Given the description of an element on the screen output the (x, y) to click on. 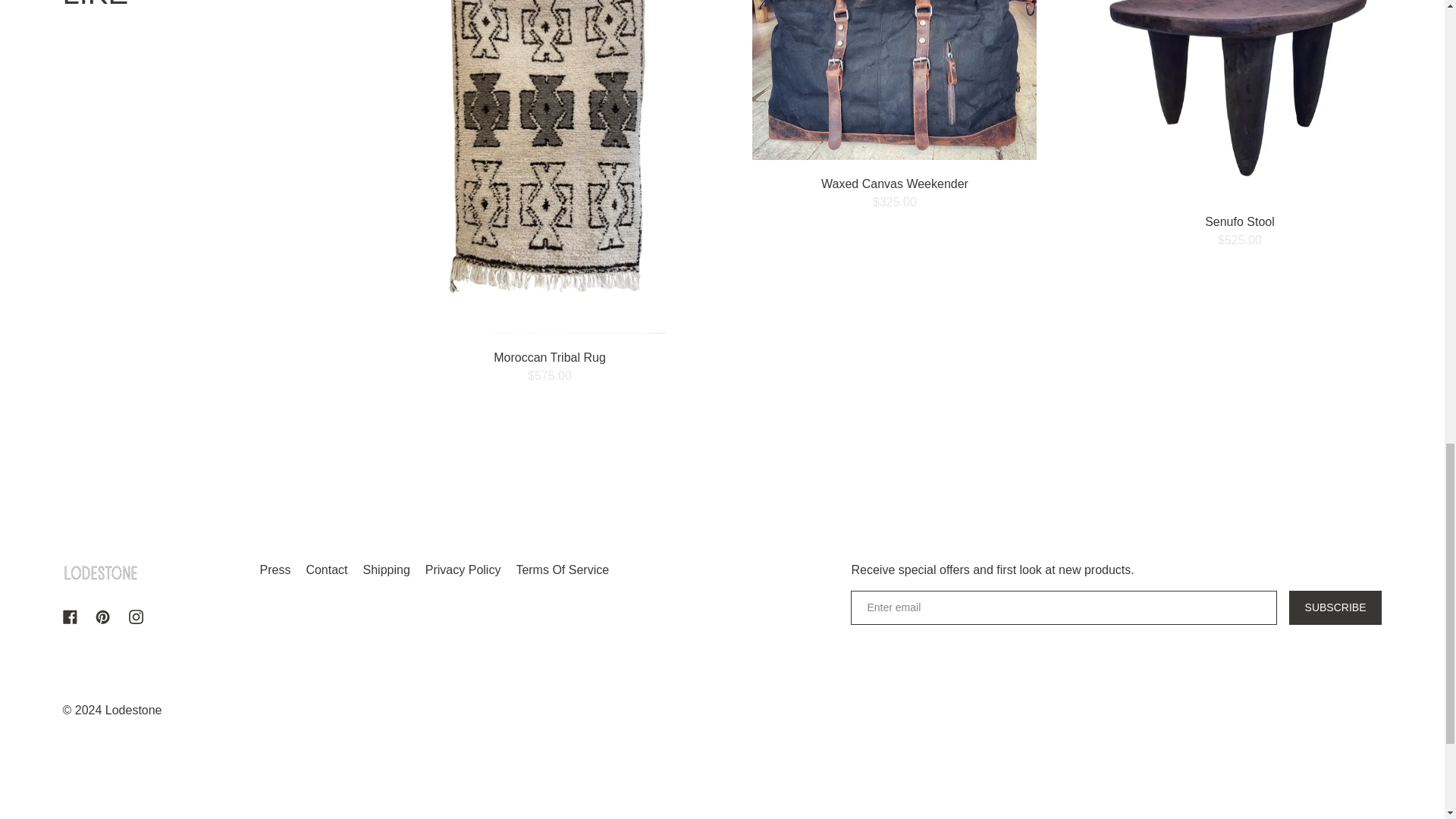
Lodestone on Facebook (69, 616)
Lodestone on Instagram (135, 616)
Lodestone on Pinterest (102, 616)
